Given the description of an element on the screen output the (x, y) to click on. 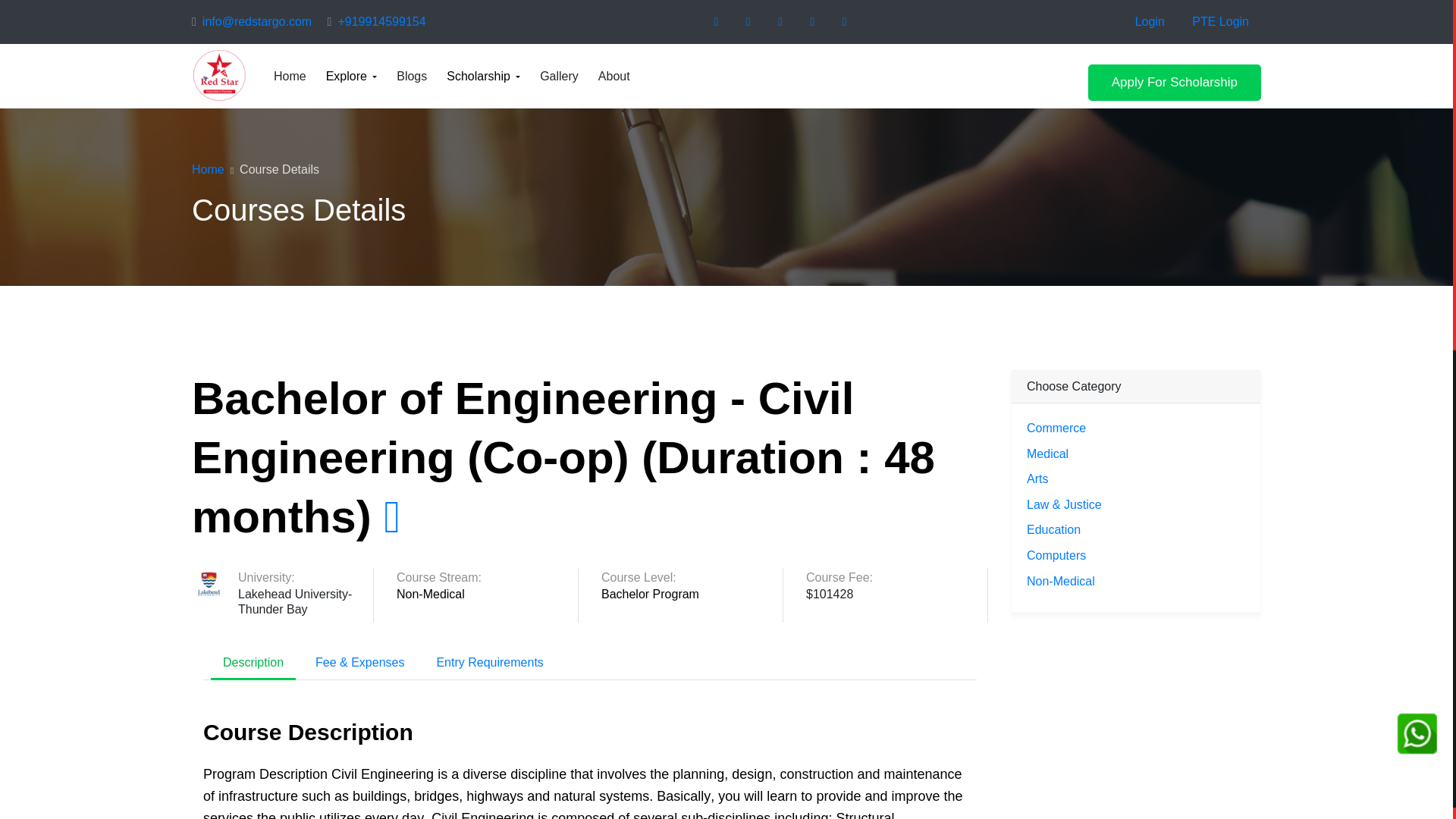
Home (208, 169)
Non-Medical (487, 594)
Explore (352, 76)
Bachelor Program (692, 594)
Entry Requirements (488, 663)
Description (253, 663)
Scholarship (483, 76)
PTE Login (1220, 21)
Login (1149, 21)
Apply For Scholarship (1173, 82)
